Given the description of an element on the screen output the (x, y) to click on. 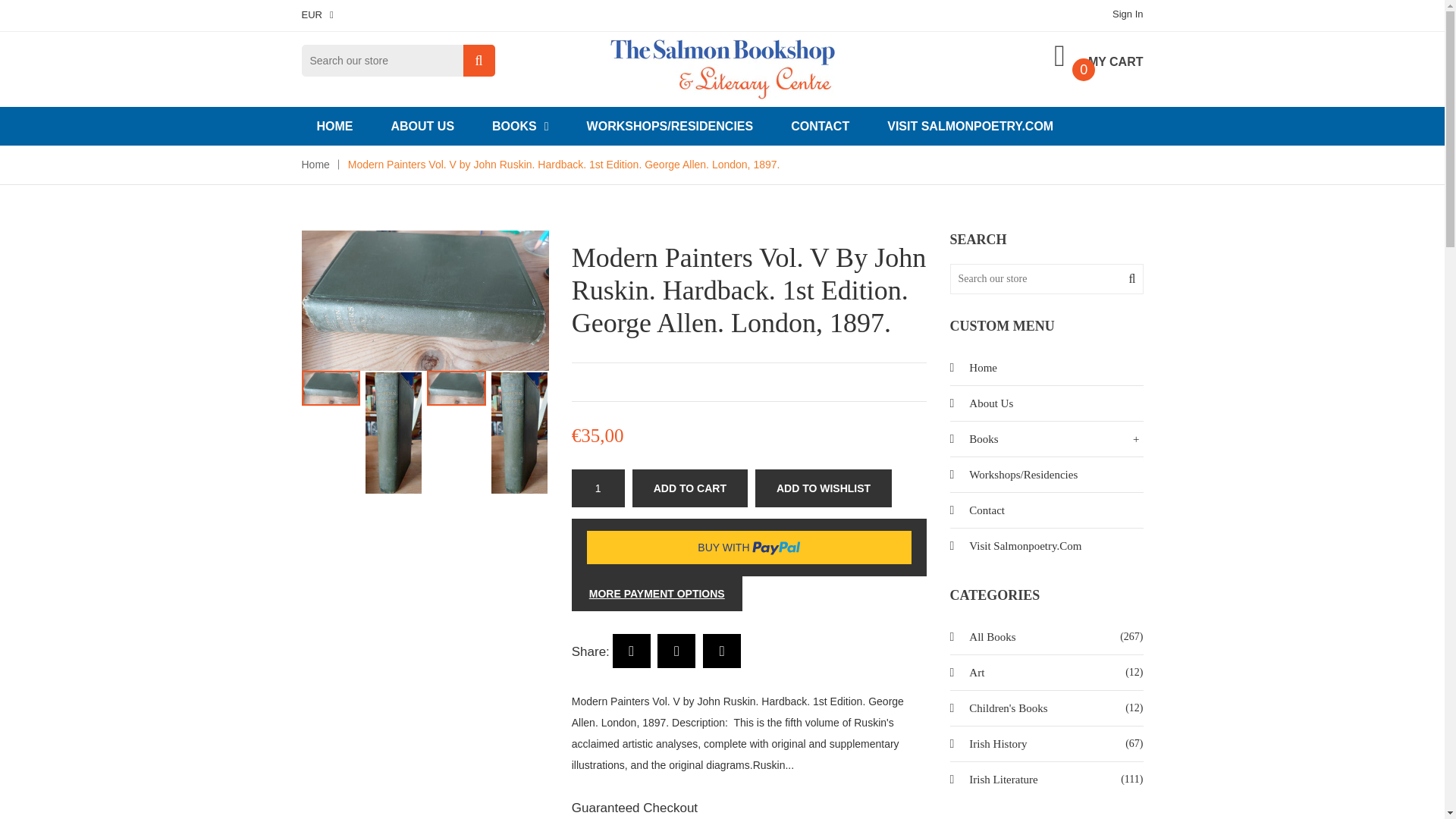
Follow us on Twitter (676, 650)
1 (598, 487)
Back to the home page (315, 164)
BOOKS (520, 126)
Sign In (1127, 13)
Wishlist (823, 487)
ABOUT US (422, 126)
Follow us on Facebook (631, 650)
Follow us on Pinterest (722, 650)
EUR (317, 14)
HOME (334, 126)
VISIT SALMONPOETRY.COM (970, 126)
CONTACT (820, 126)
MY CART (1098, 57)
